Given the description of an element on the screen output the (x, y) to click on. 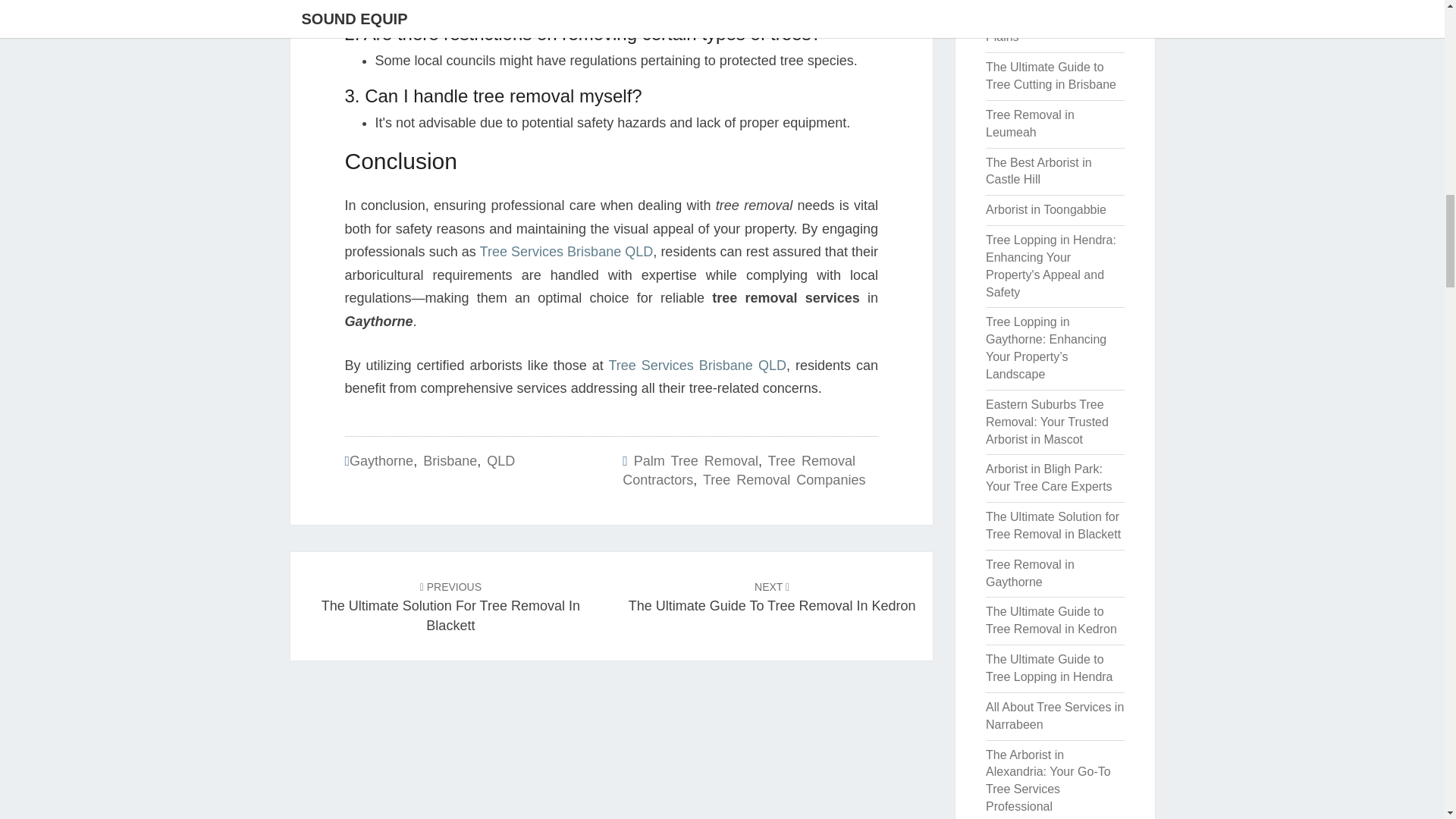
Arborist in Toongabbie (771, 595)
Tree Removal Companies (1045, 209)
The Best Arborist in Castle Hill (783, 479)
Palm Tree Removal (1038, 171)
Gaythorne (695, 460)
The Ultimate Guide to Tree Cutting in Brisbane (381, 460)
Tree Removal Contractors (1050, 75)
Brisbane (739, 470)
Tree Services Brisbane QLD (450, 460)
Tree Services Brisbane QLD (697, 365)
Tree Removal in Leumeah (566, 251)
The Best Arborist in Emu Plains (450, 605)
